Given the description of an element on the screen output the (x, y) to click on. 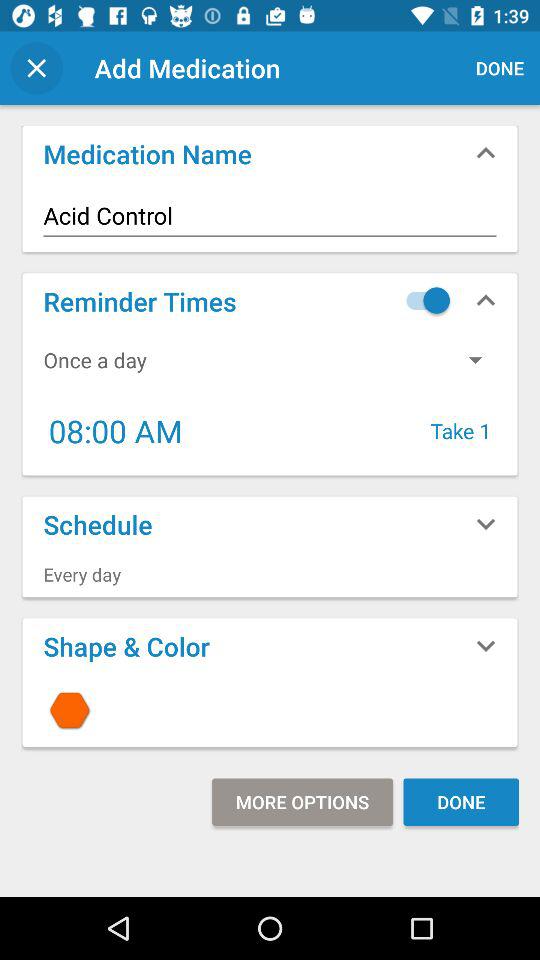
turn off the icon next to done (302, 801)
